Given the description of an element on the screen output the (x, y) to click on. 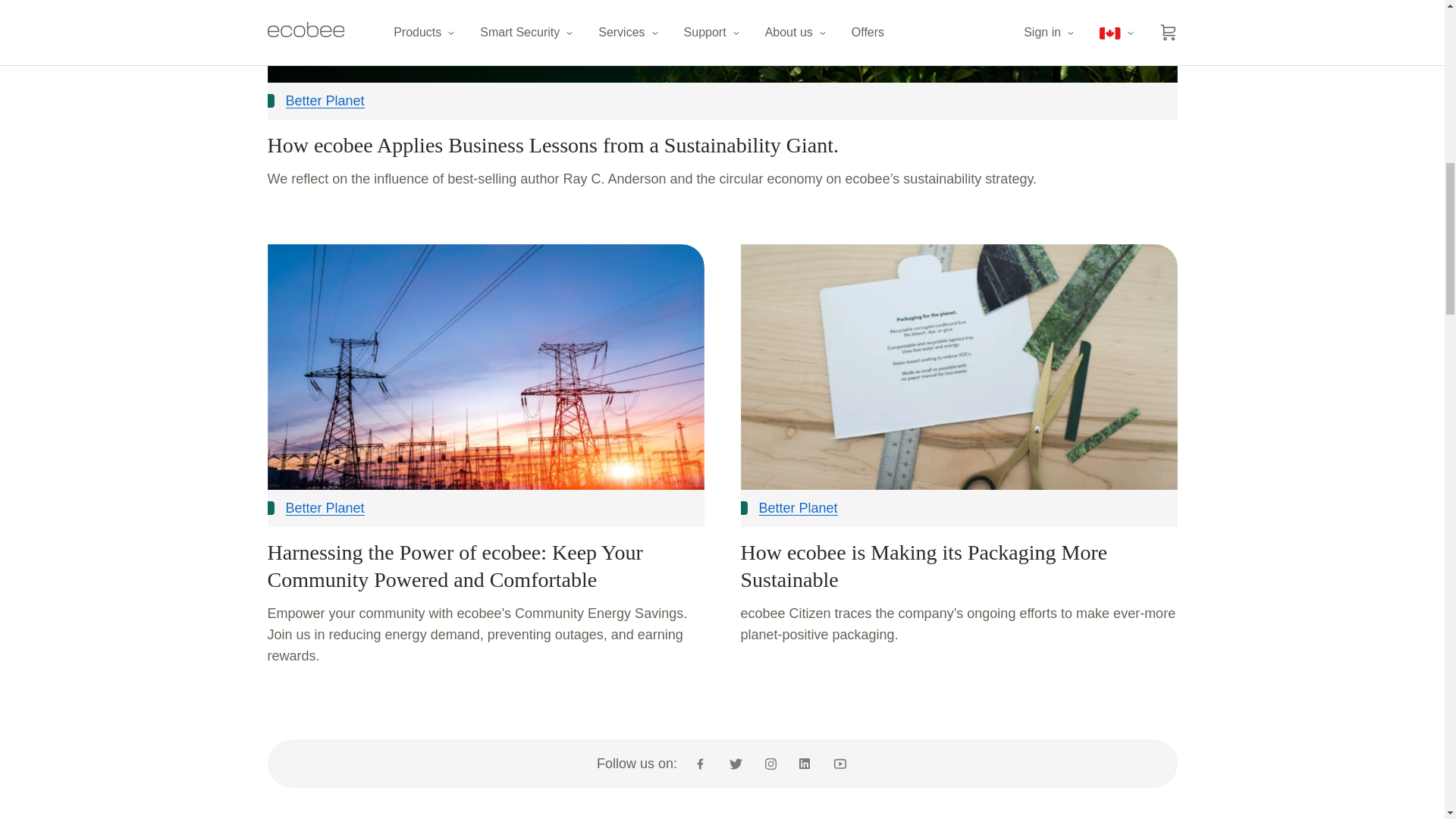
Instagram (770, 762)
Twitter (735, 762)
YouTube (834, 763)
LinkedIn (804, 762)
Facebook (705, 762)
